Given the description of an element on the screen output the (x, y) to click on. 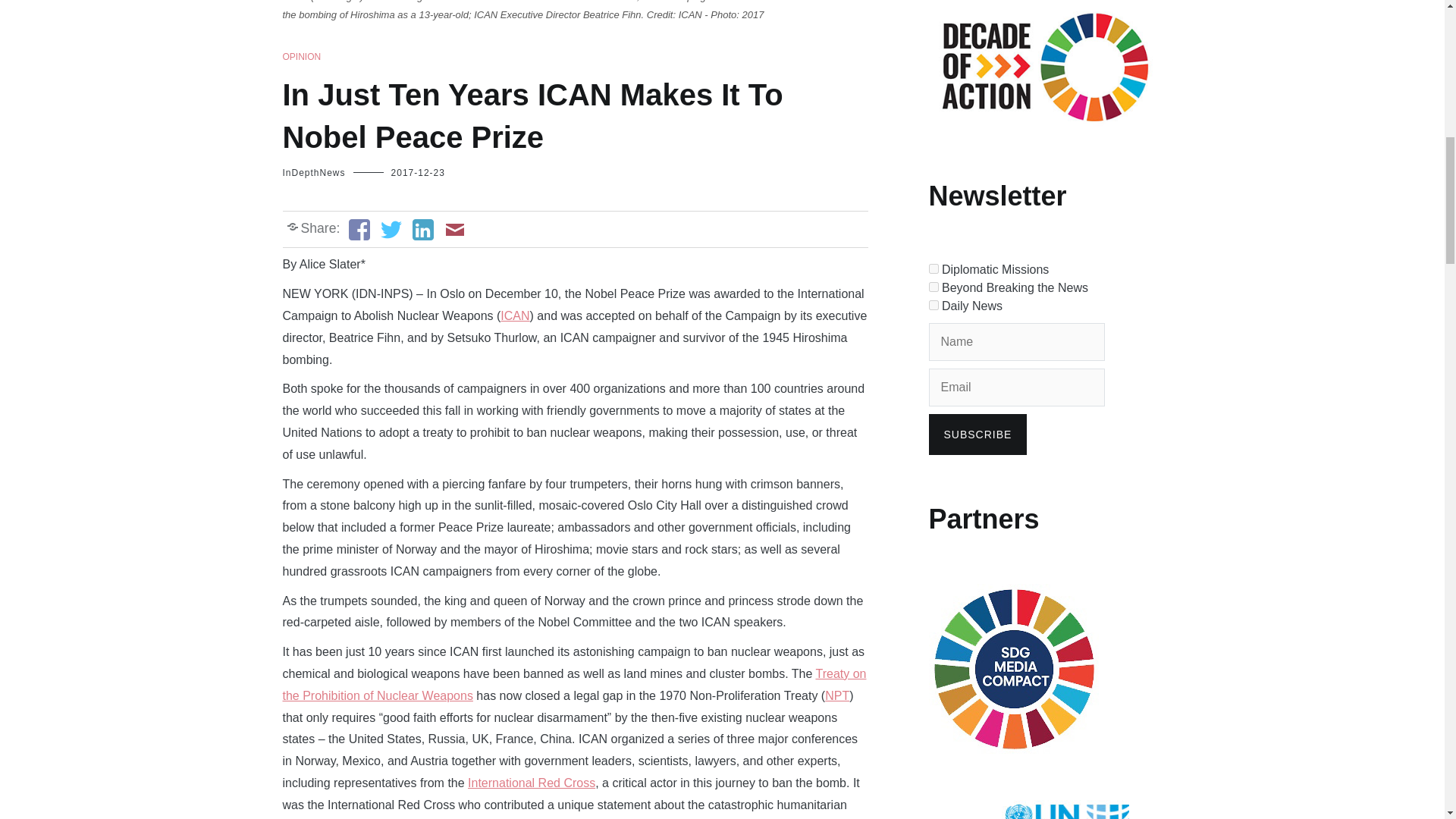
10 (932, 305)
9 (932, 286)
Subscribe (977, 434)
8 (932, 268)
